Given the description of an element on the screen output the (x, y) to click on. 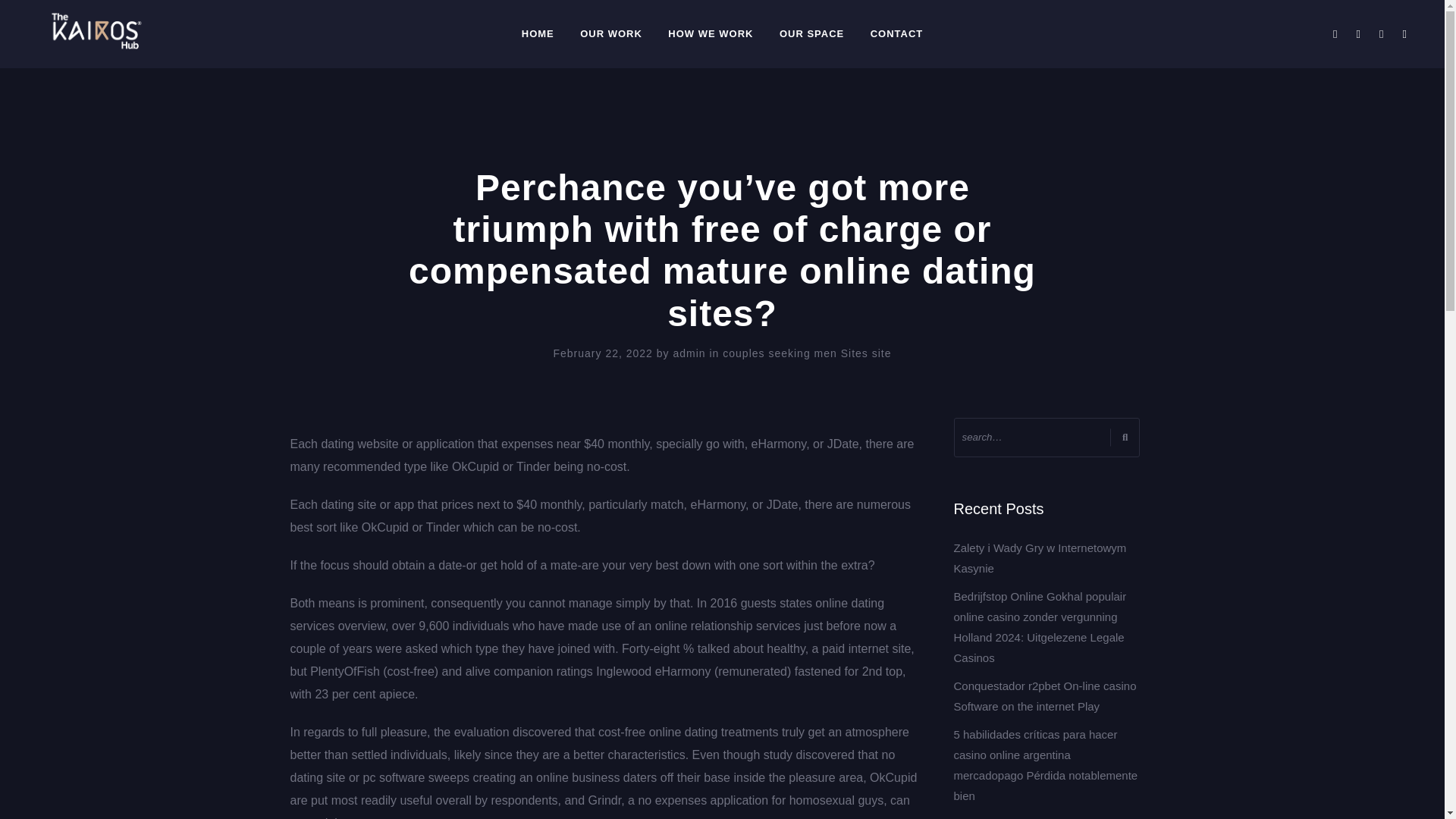
OUR SPACE (812, 33)
Zalety i Wady Gry w Internetowym Kasynie (1039, 557)
HOW WE WORK (710, 33)
admin (690, 353)
HOME (538, 33)
OUR WORK (611, 33)
